Given the description of an element on the screen output the (x, y) to click on. 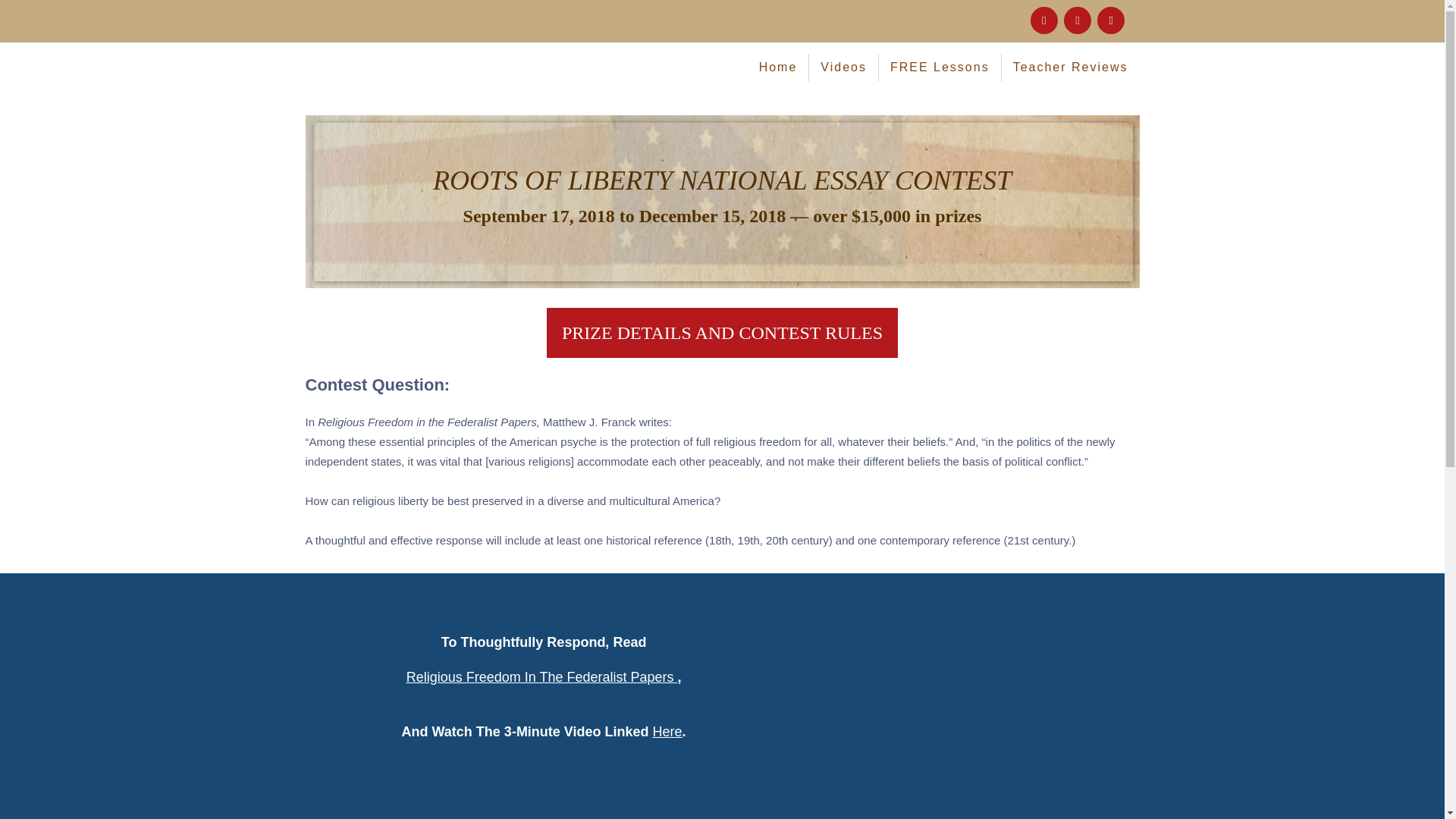
Videos (844, 67)
Here (667, 731)
Roots of Liberty - Lesson 10: Religious Freedom (972, 702)
Home (778, 67)
Teacher Reviews (1070, 67)
PRIZE DETAILS AND CONTEST RULES (722, 332)
Religious Freedom In The Federalist Papers (540, 676)
FREE Lessons (940, 67)
